Given the description of an element on the screen output the (x, y) to click on. 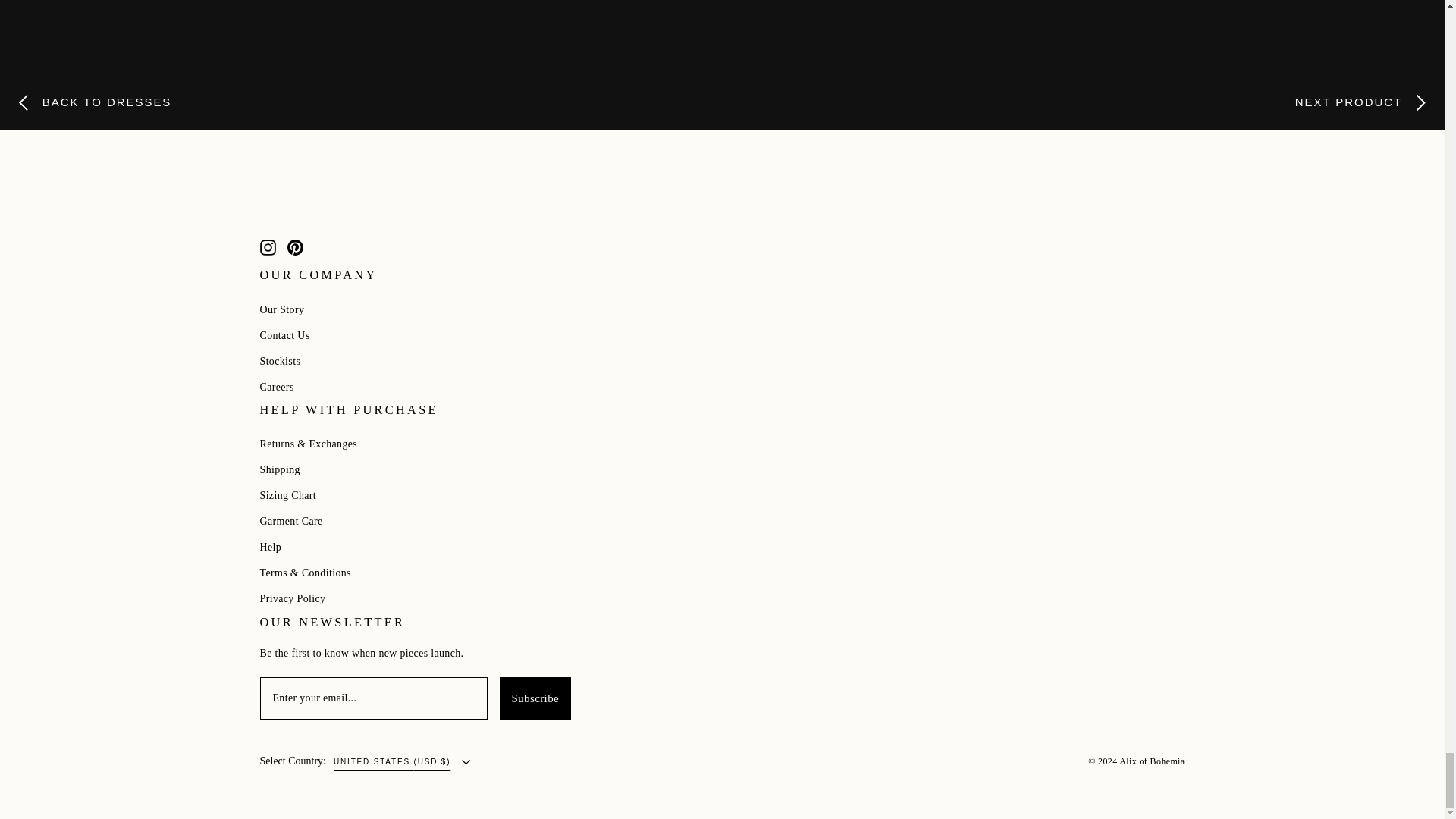
instagram (267, 247)
